Given the description of an element on the screen output the (x, y) to click on. 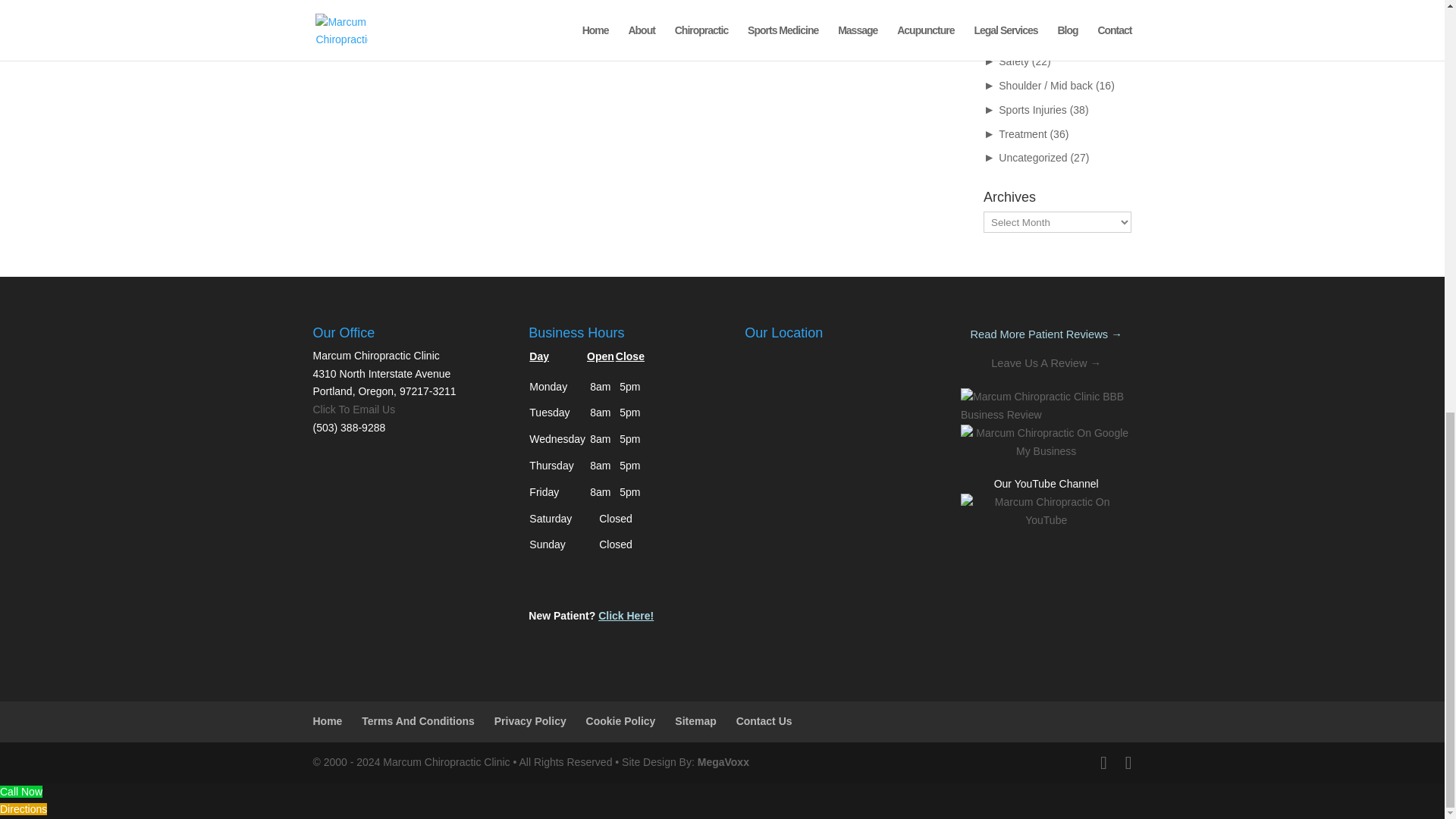
Repetitive Stress (1038, 37)
Safety (1013, 61)
Posture (1016, 13)
